Given the description of an element on the screen output the (x, y) to click on. 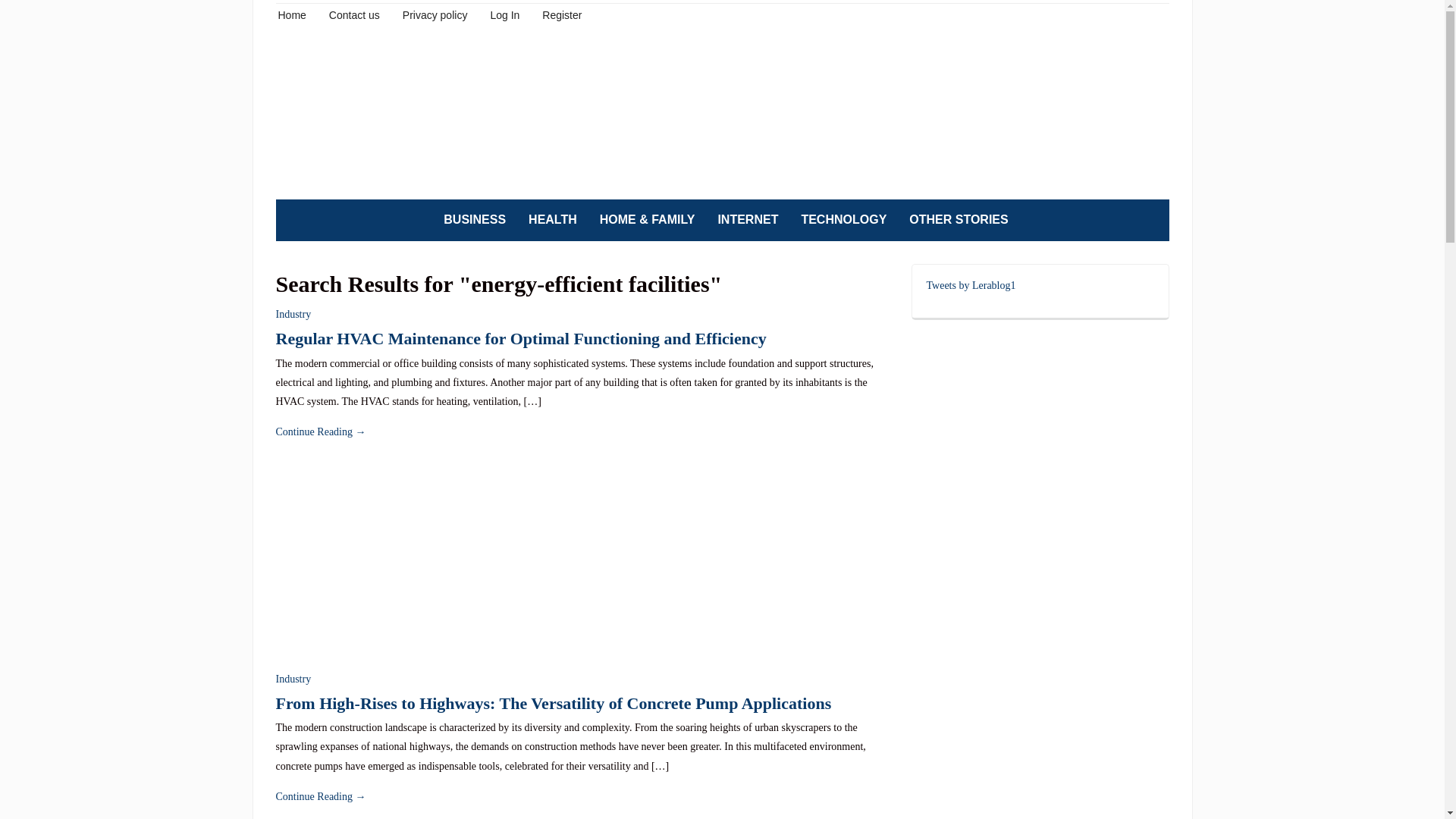
Log In (504, 14)
Register (560, 14)
Search (1149, 219)
Contact us (354, 14)
Privacy policy (435, 14)
Home (291, 14)
